Given the description of an element on the screen output the (x, y) to click on. 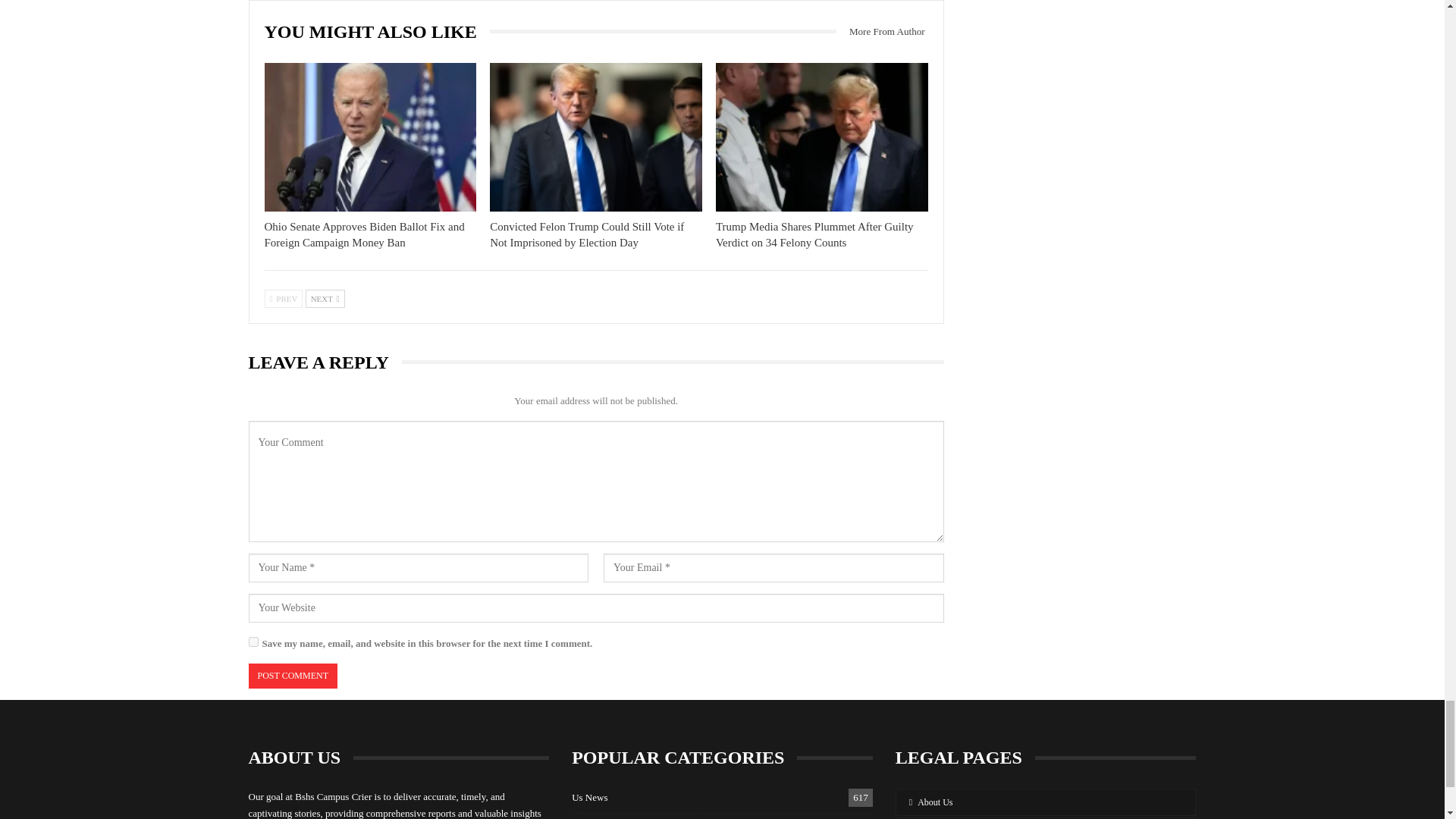
Post Comment (292, 675)
yes (253, 642)
